Given the description of an element on the screen output the (x, y) to click on. 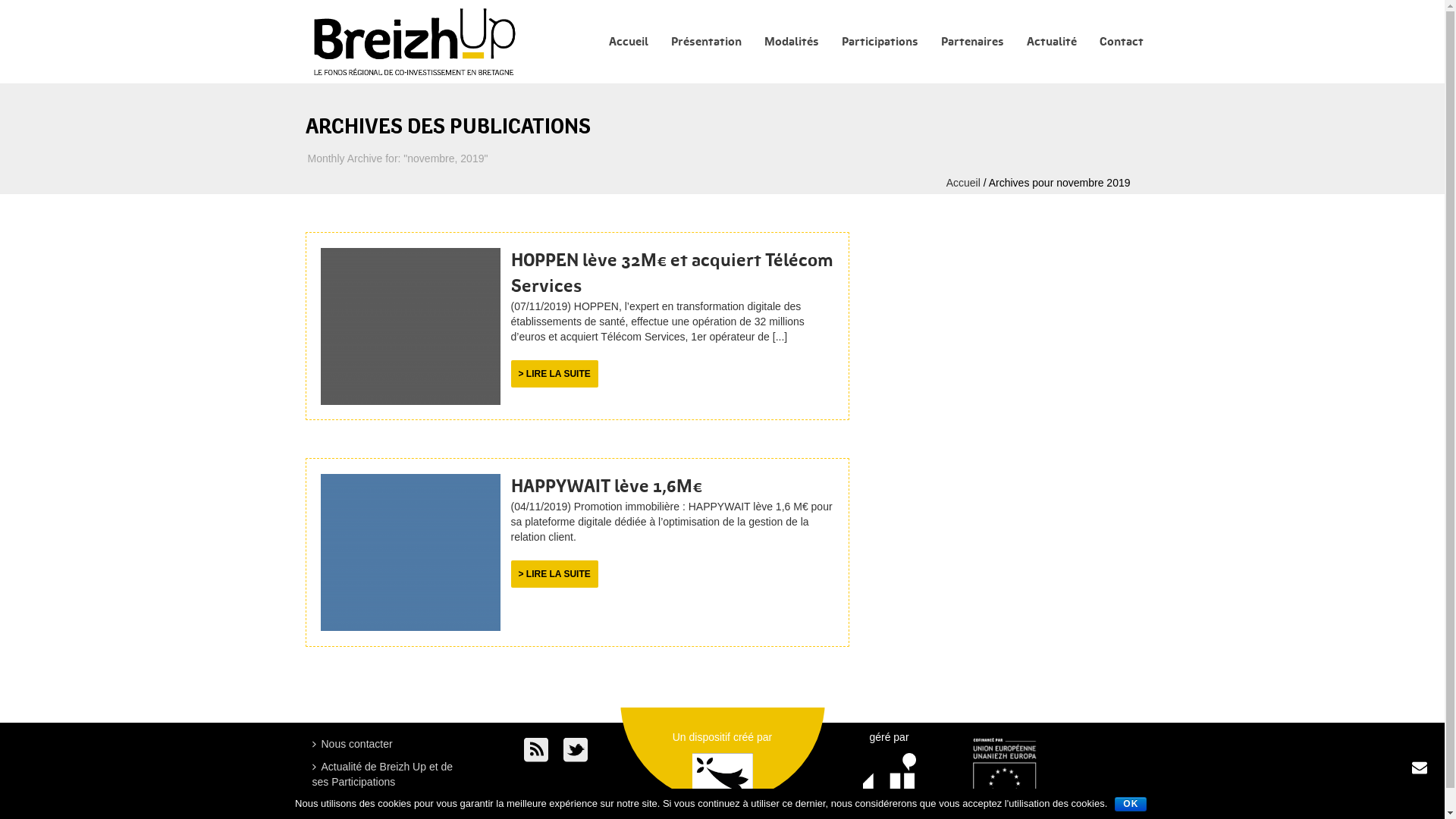
Accueil Element type: text (628, 41)
Nous contacter Element type: text (355, 744)
> LIRE LA SUITE Element type: text (554, 573)
Participations Element type: text (878, 41)
> LIRE LA SUITE Element type: text (554, 373)
Accueil Element type: text (963, 182)
Partenaires Element type: text (972, 41)
Contact Element type: text (1120, 41)
OK Element type: text (1130, 804)
